Given the description of an element on the screen output the (x, y) to click on. 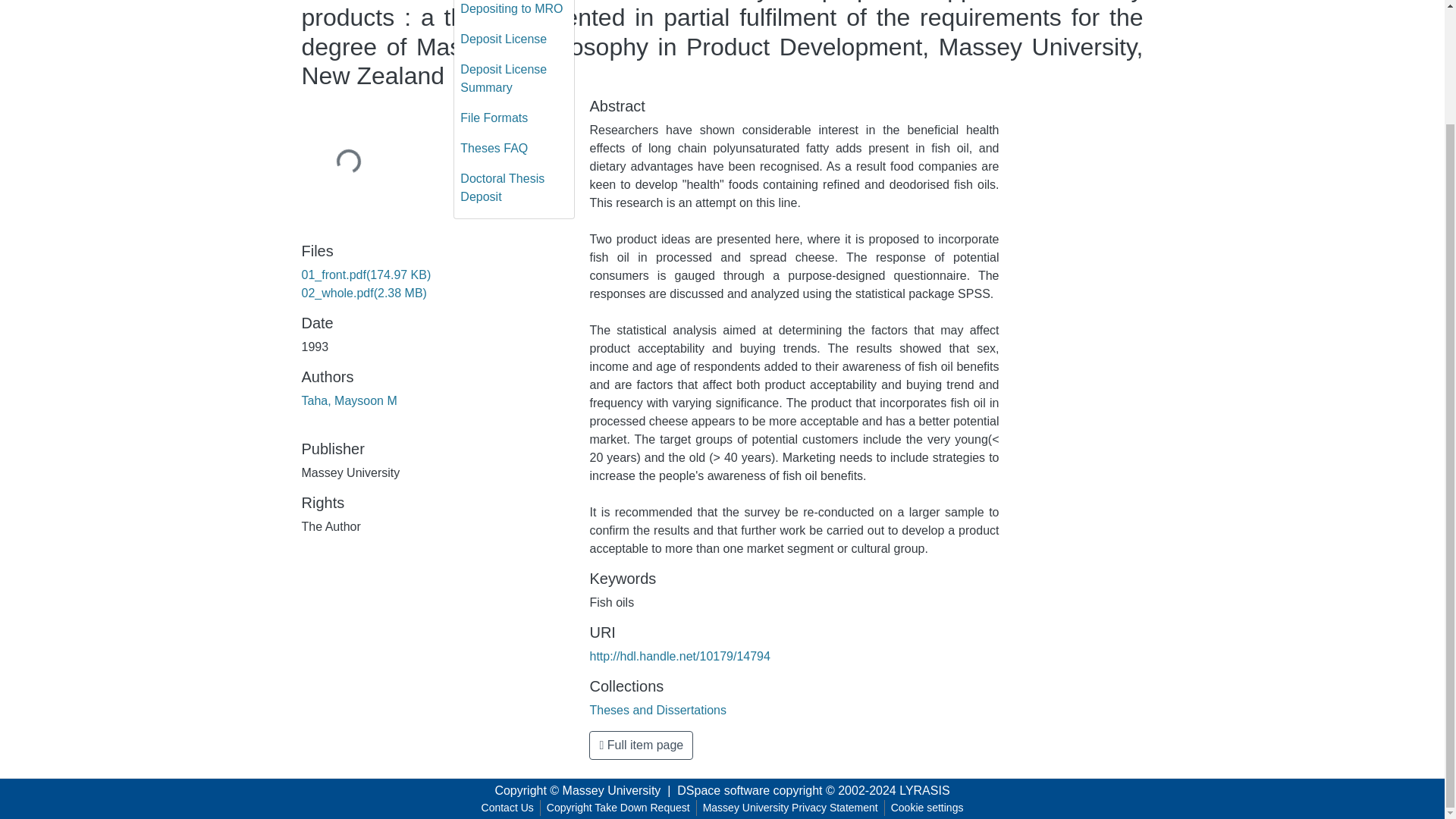
Taha, Maysoon M (349, 400)
File Formats (513, 118)
Full item page (641, 745)
Theses FAQ (513, 148)
LYRASIS (924, 789)
Depositing to MRO (513, 12)
Contact Us (508, 807)
Doctoral Thesis Deposit (513, 187)
Deposit License Summary (513, 78)
Theses and Dissertations (657, 709)
